Given the description of an element on the screen output the (x, y) to click on. 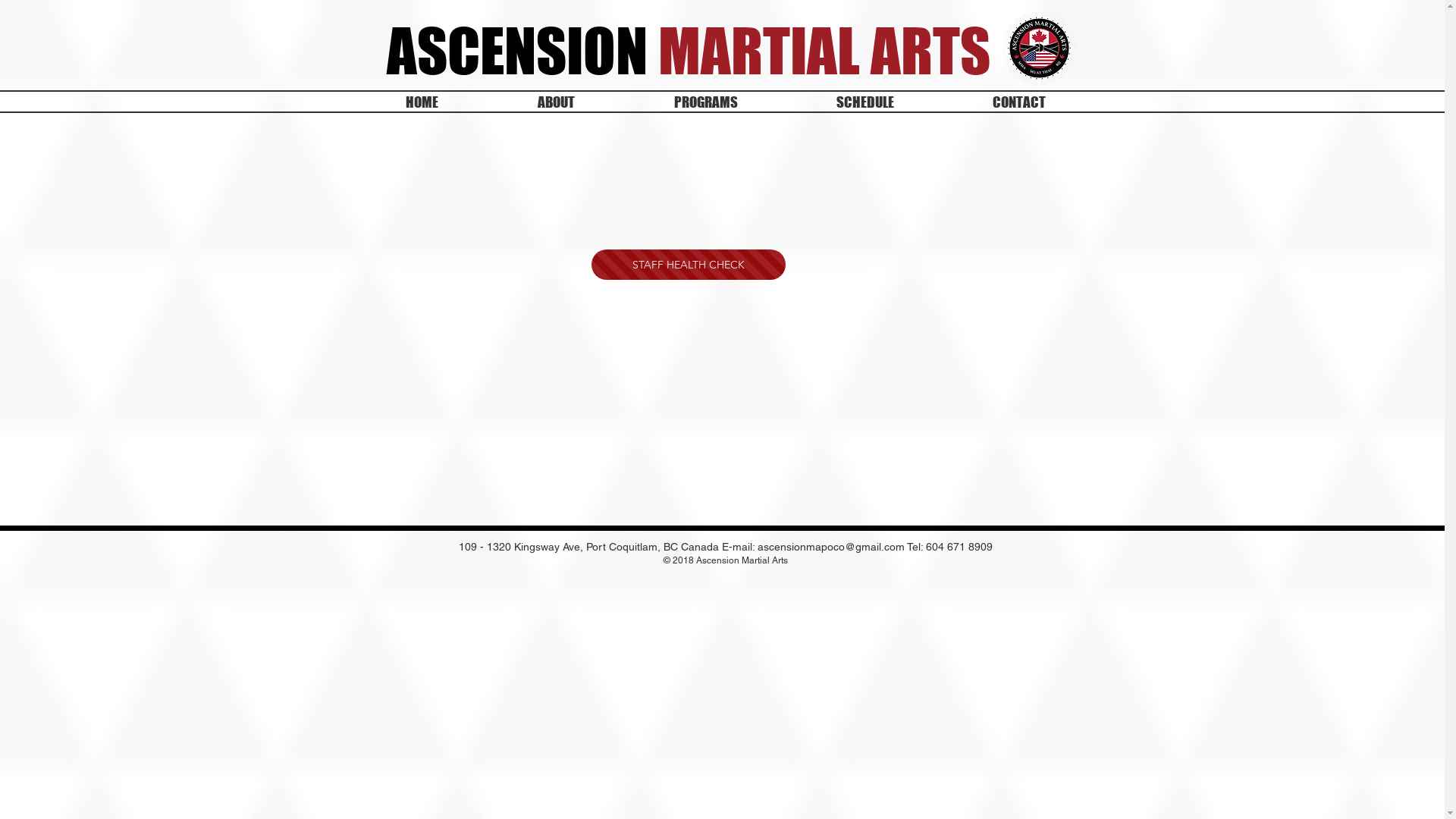
ABOUT Element type: text (556, 101)
STAFF HEALTH CHECK Element type: text (688, 264)
CONTACT Element type: text (1019, 101)
PROGRAMS Element type: text (705, 101)
ascensionmapoco@gmail.com Element type: text (830, 546)
SCHEDULE Element type: text (865, 101)
HOME Element type: text (422, 101)
